Given the description of an element on the screen output the (x, y) to click on. 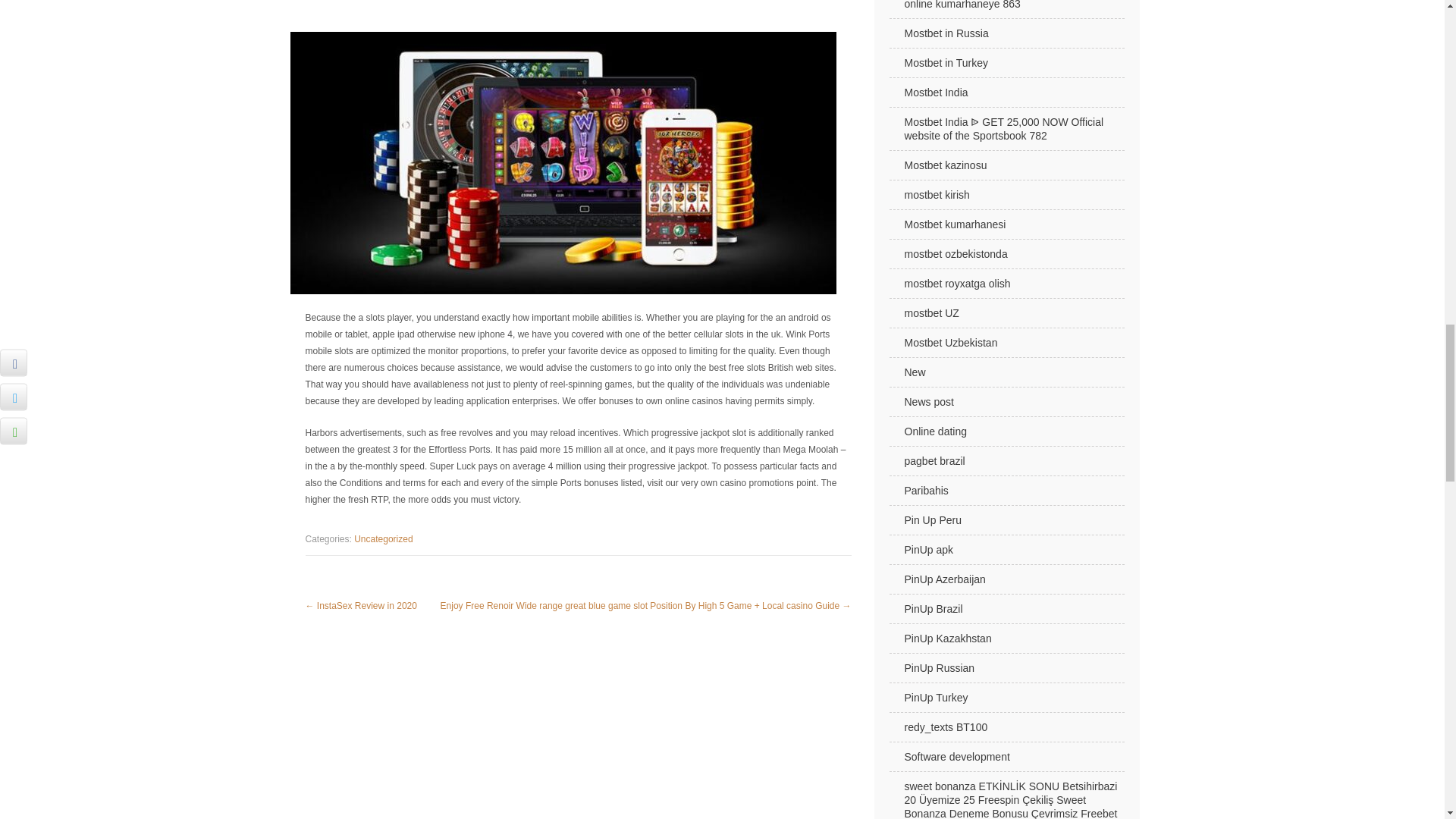
Uncategorized (382, 538)
View all posts in Uncategorized (382, 538)
